Given the description of an element on the screen output the (x, y) to click on. 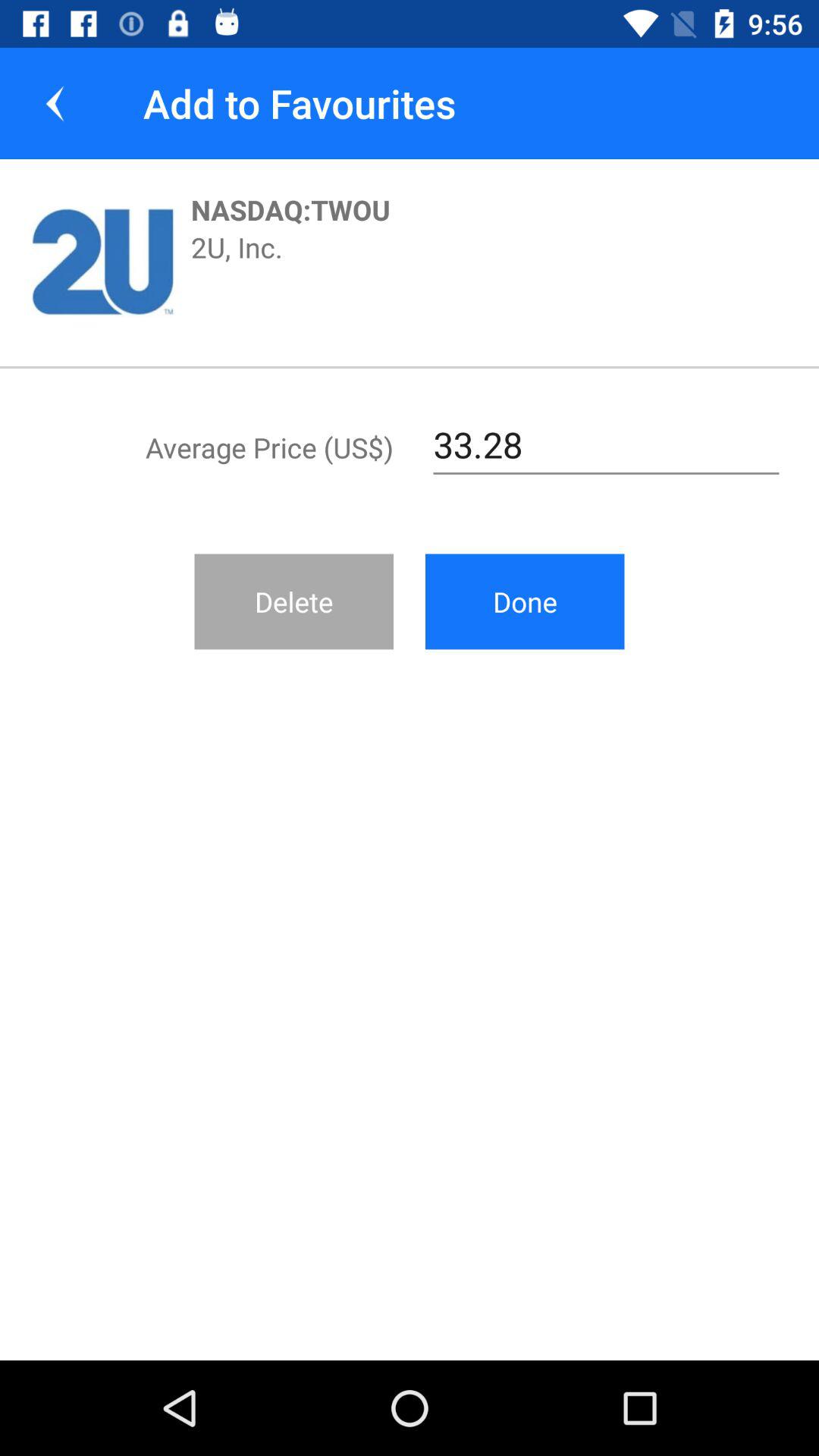
click the icon to the right of the delete (524, 601)
